Given the description of an element on the screen output the (x, y) to click on. 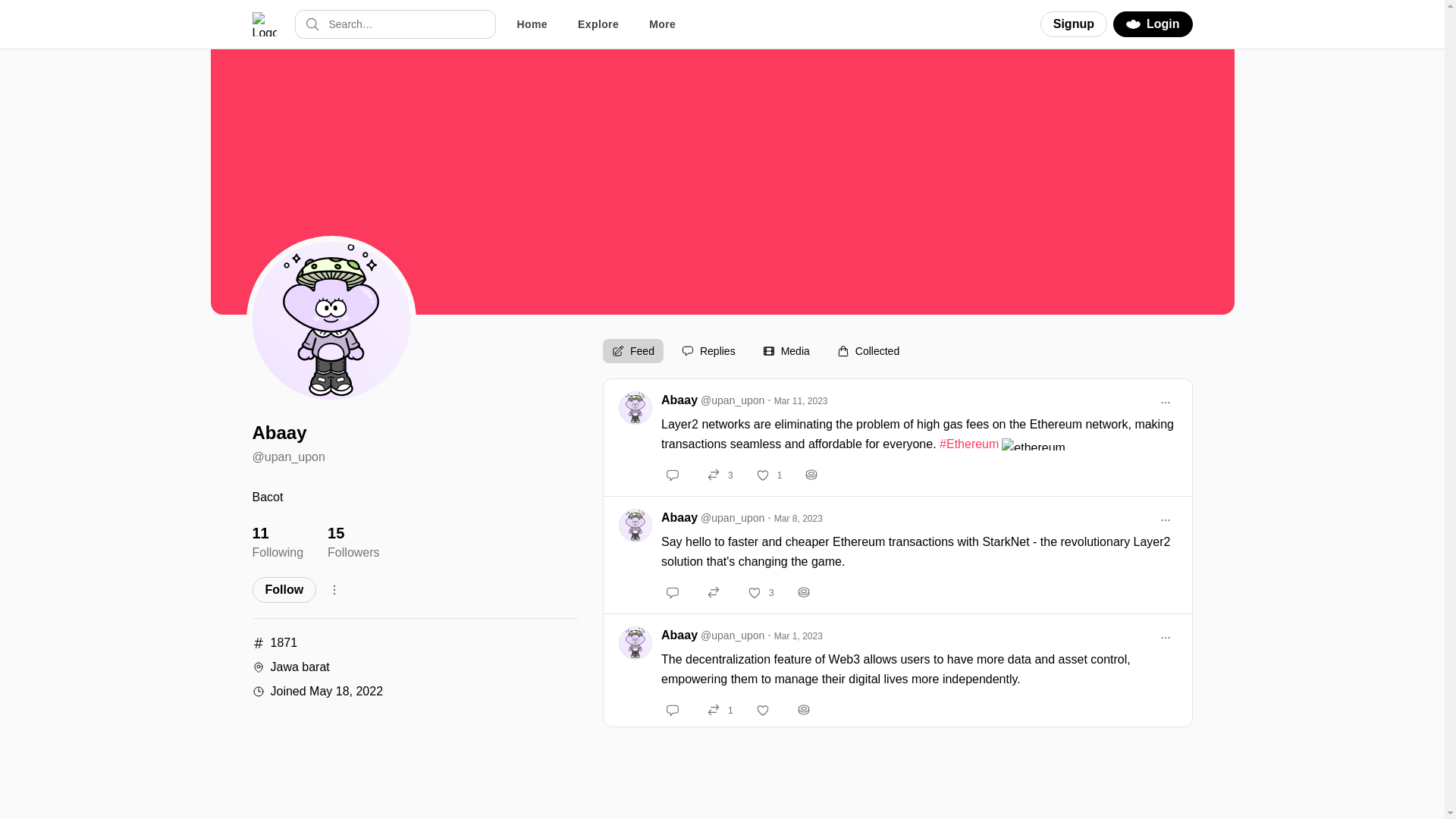
Mar 11, 2023 (801, 400)
Media (786, 351)
Feed (632, 351)
Login (1152, 23)
Replies (708, 351)
Signup (1073, 23)
Abaay (352, 541)
More (679, 635)
